Given the description of an element on the screen output the (x, y) to click on. 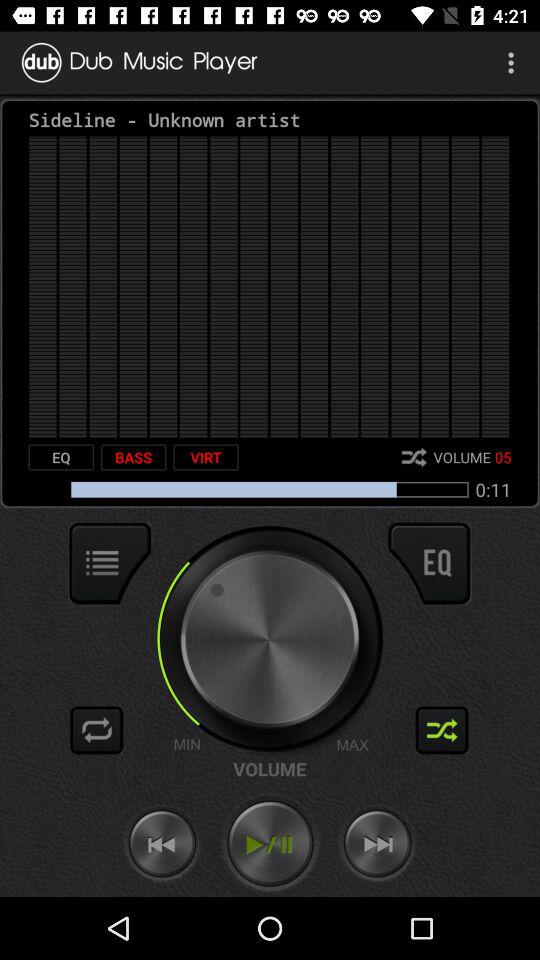
turn on virt (205, 457)
